Given the description of an element on the screen output the (x, y) to click on. 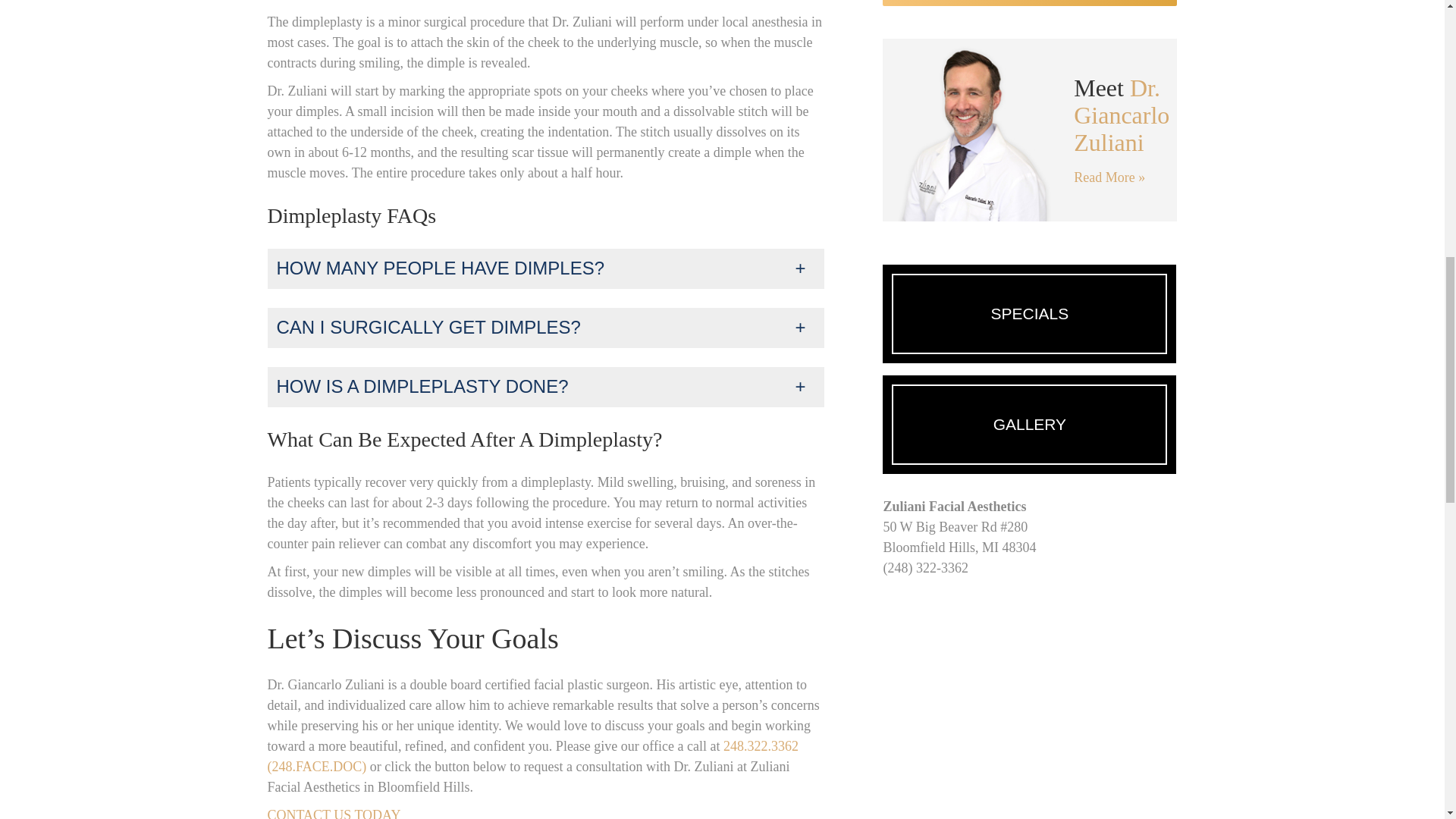
Submit (1029, 2)
